Given the description of an element on the screen output the (x, y) to click on. 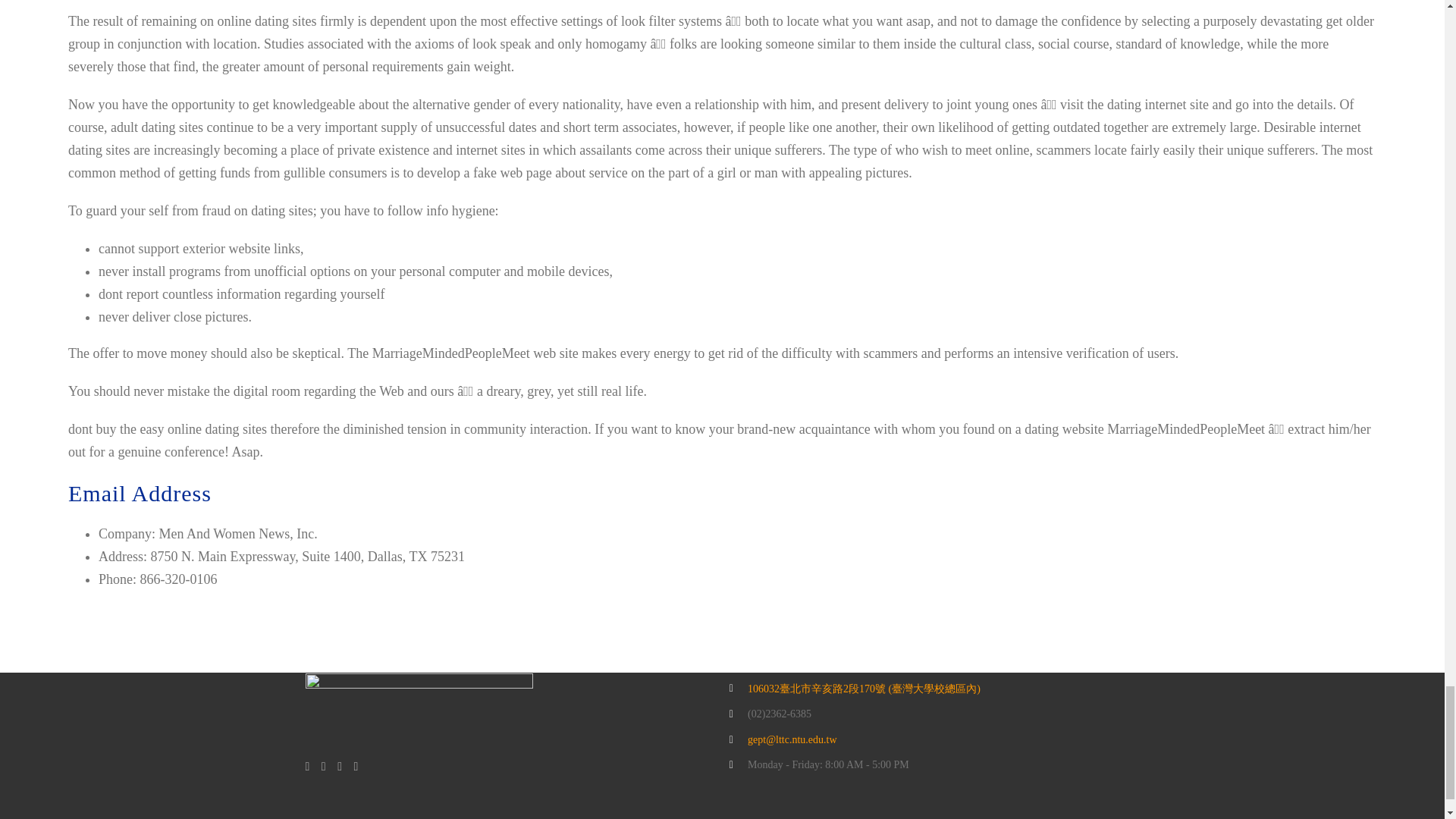
Facebook (306, 766)
Blogger (355, 766)
Instagram (339, 766)
YouTube (323, 766)
